Given the description of an element on the screen output the (x, y) to click on. 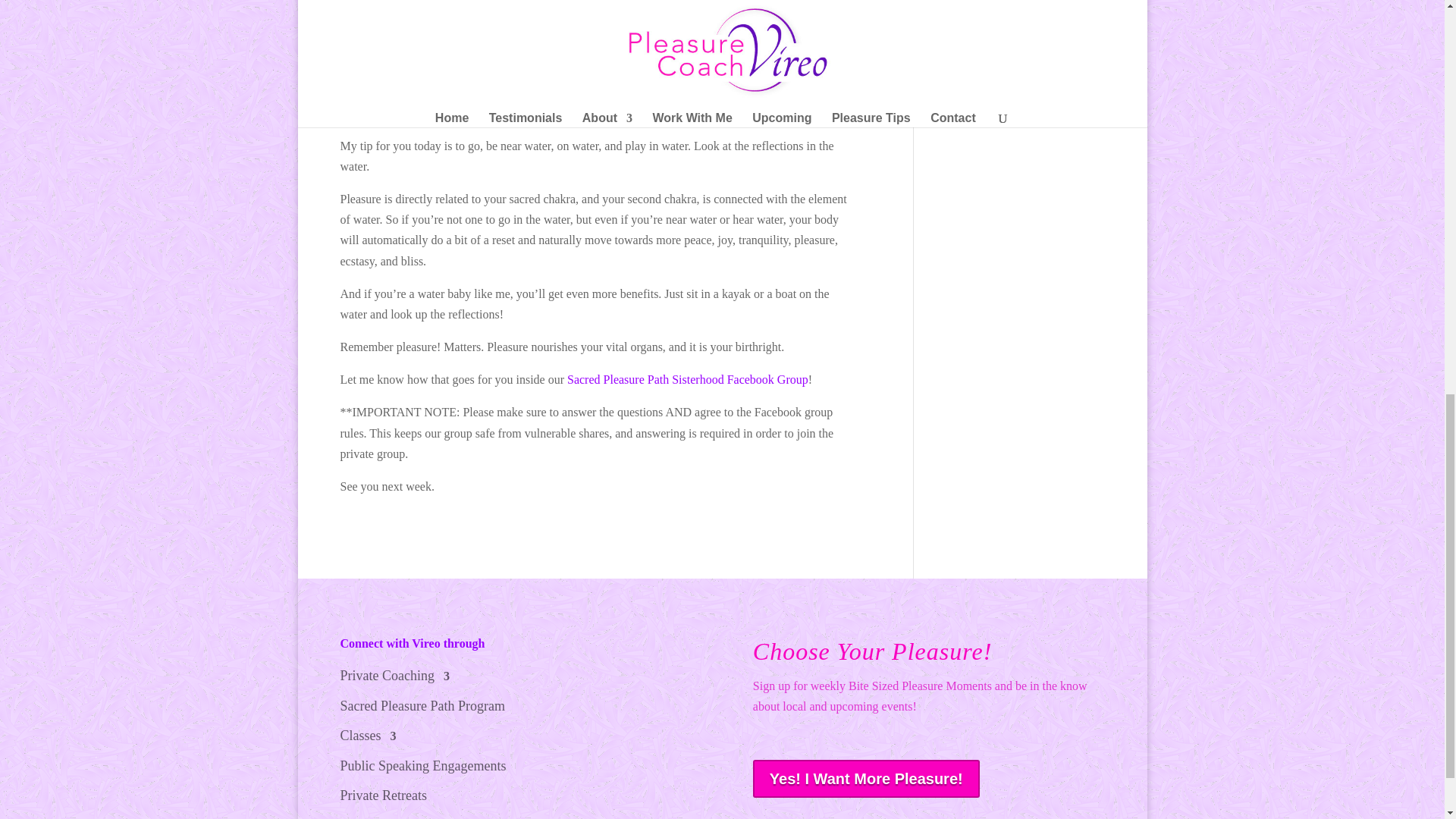
Public Speaking Engagements (422, 769)
Sacred Pleasure Path Sisterhood Facebook Group (687, 379)
YouTube video player (595, 23)
Classes (367, 739)
Private Retreats (382, 798)
Private Coaching (393, 679)
Sacred Pleasure Path Program (421, 709)
